Given the description of an element on the screen output the (x, y) to click on. 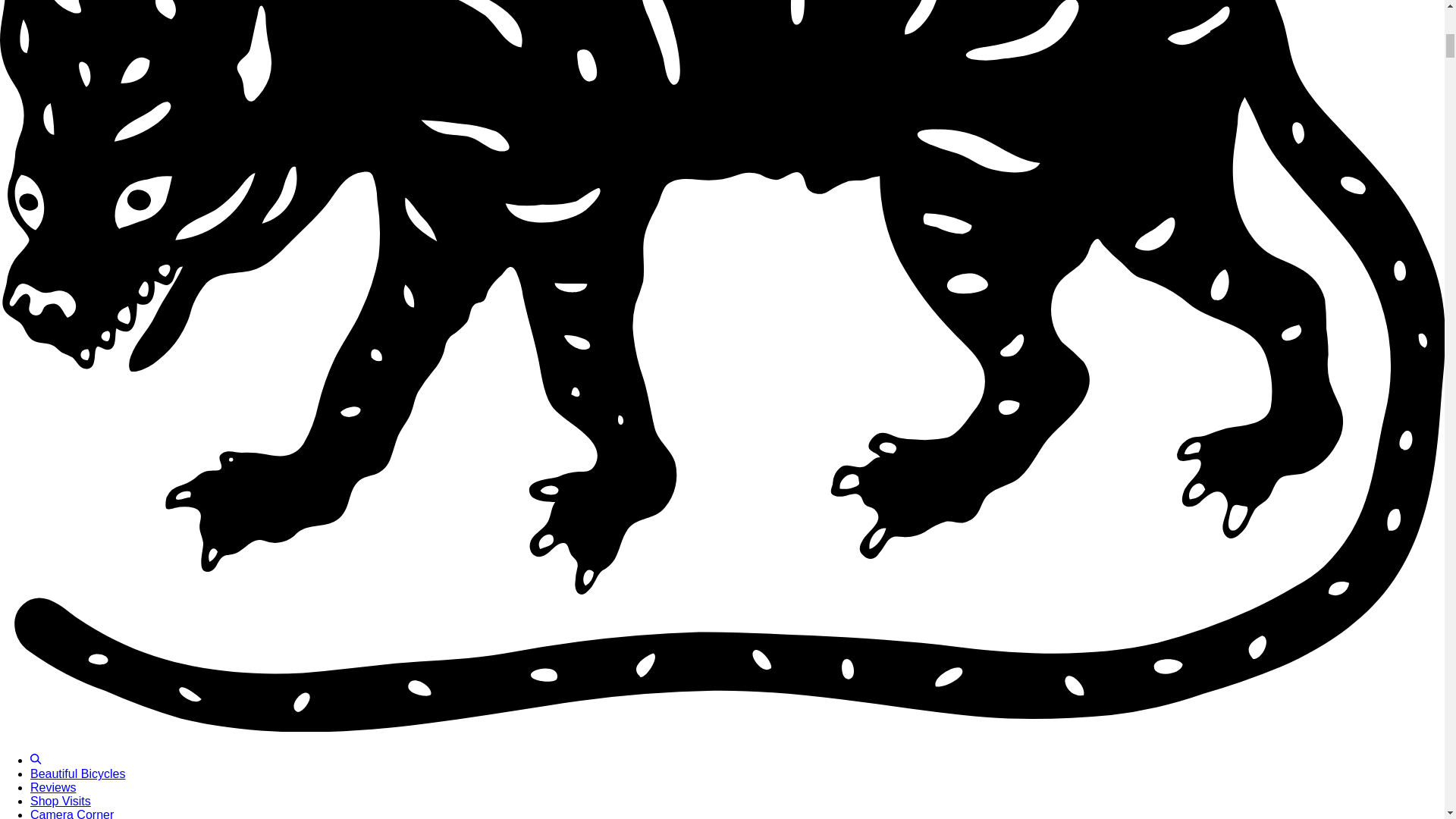
Beautiful Bicycles (77, 773)
Reviews (52, 787)
Camera Corner (71, 813)
Shop Visits (60, 800)
